Given the description of an element on the screen output the (x, y) to click on. 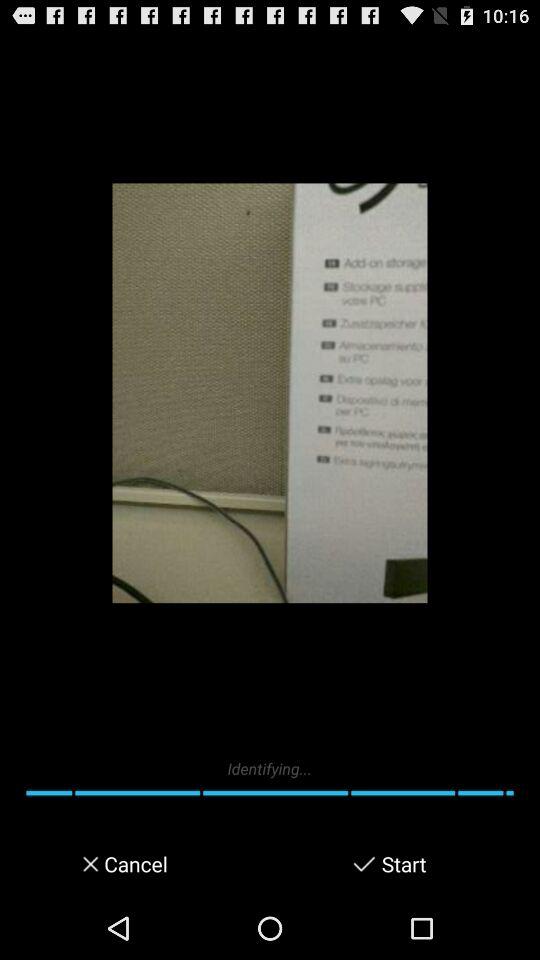
swipe until the cancel item (134, 863)
